Given the description of an element on the screen output the (x, y) to click on. 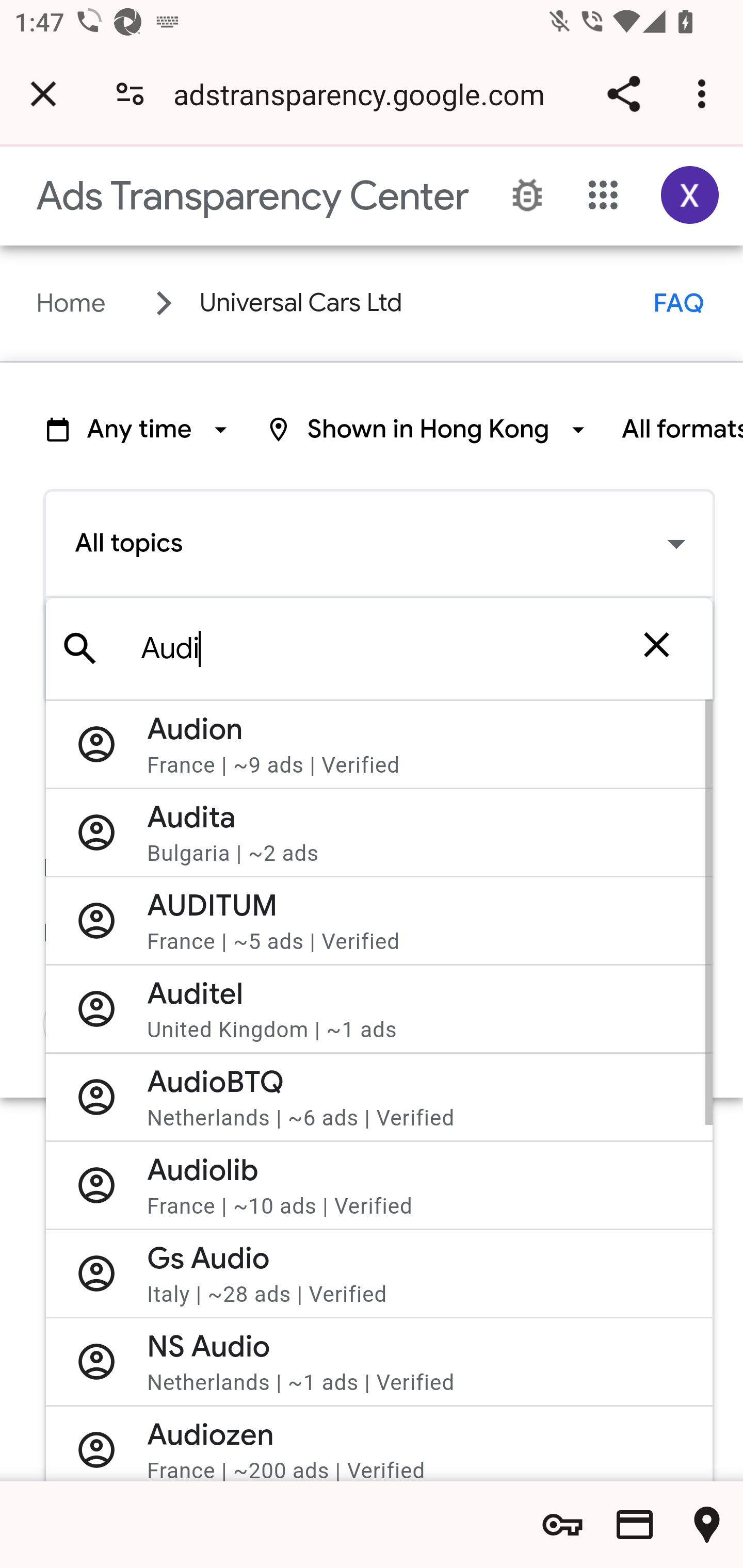
Close tab (43, 93)
Share (623, 93)
Customize and control Google Chrome (705, 93)
Connection is secure (129, 93)
adstransparency.google.com (366, 93)
Send Bug Report (526, 195)
Google apps (603, 195)
Google Account: Xiaoran (zxrappiumtest@gmail.com) (690, 195)
Home (71, 303)
FAQ (678, 303)
Date range filter button (139, 428)
Region selection filter button (428, 428)
Ad format filter button: selected All formats (682, 428)
All topics (378, 543)
Clear (656, 648)
Audi (388, 648)
Show saved passwords and password options (562, 1524)
Show saved payment methods (634, 1524)
Show saved addresses (706, 1524)
